Given the description of an element on the screen output the (x, y) to click on. 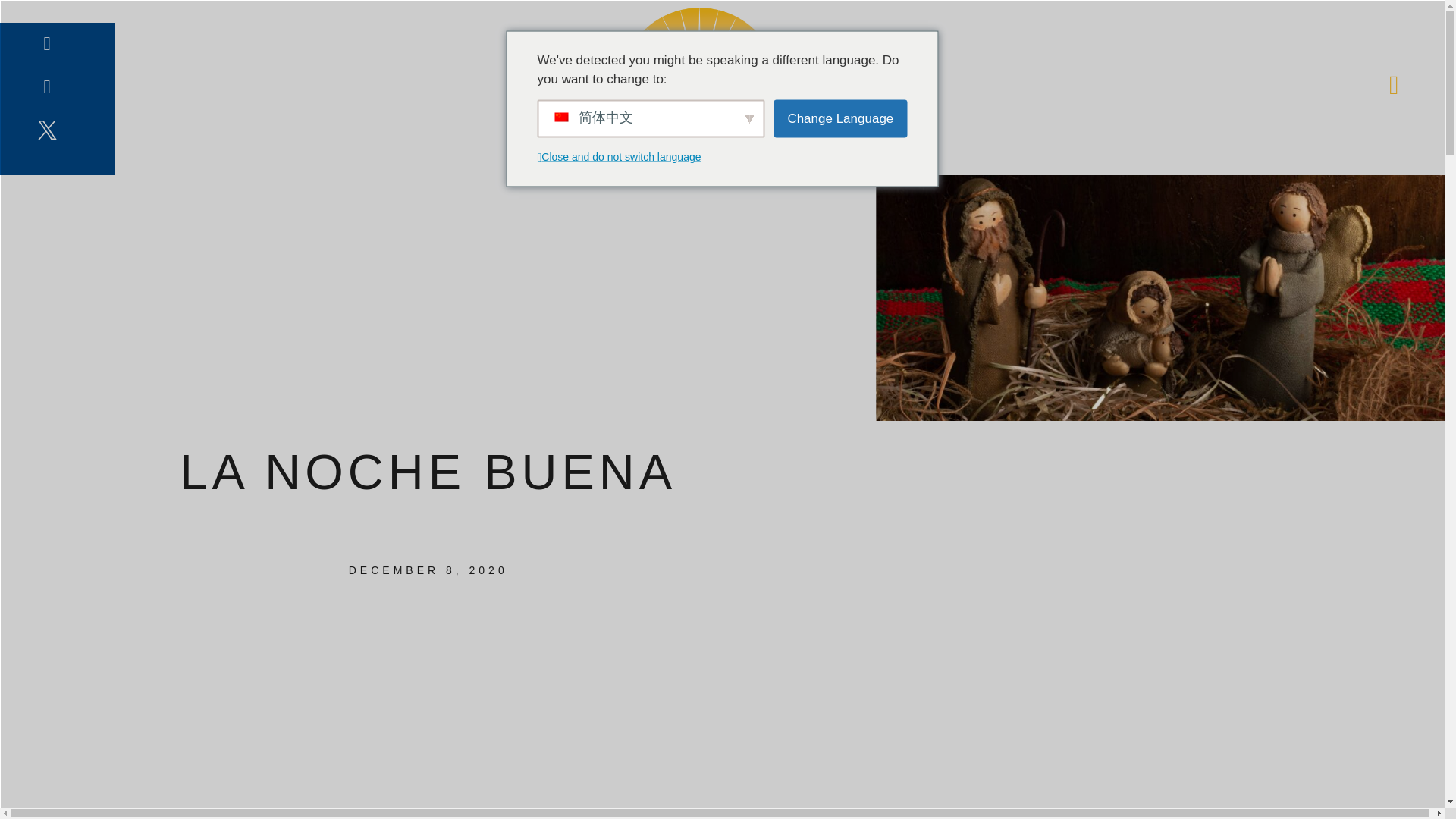
Close and do not switch language (629, 157)
Close and do not switch language (539, 157)
Close and do not switch language (620, 156)
Change Language (840, 118)
